Given the description of an element on the screen output the (x, y) to click on. 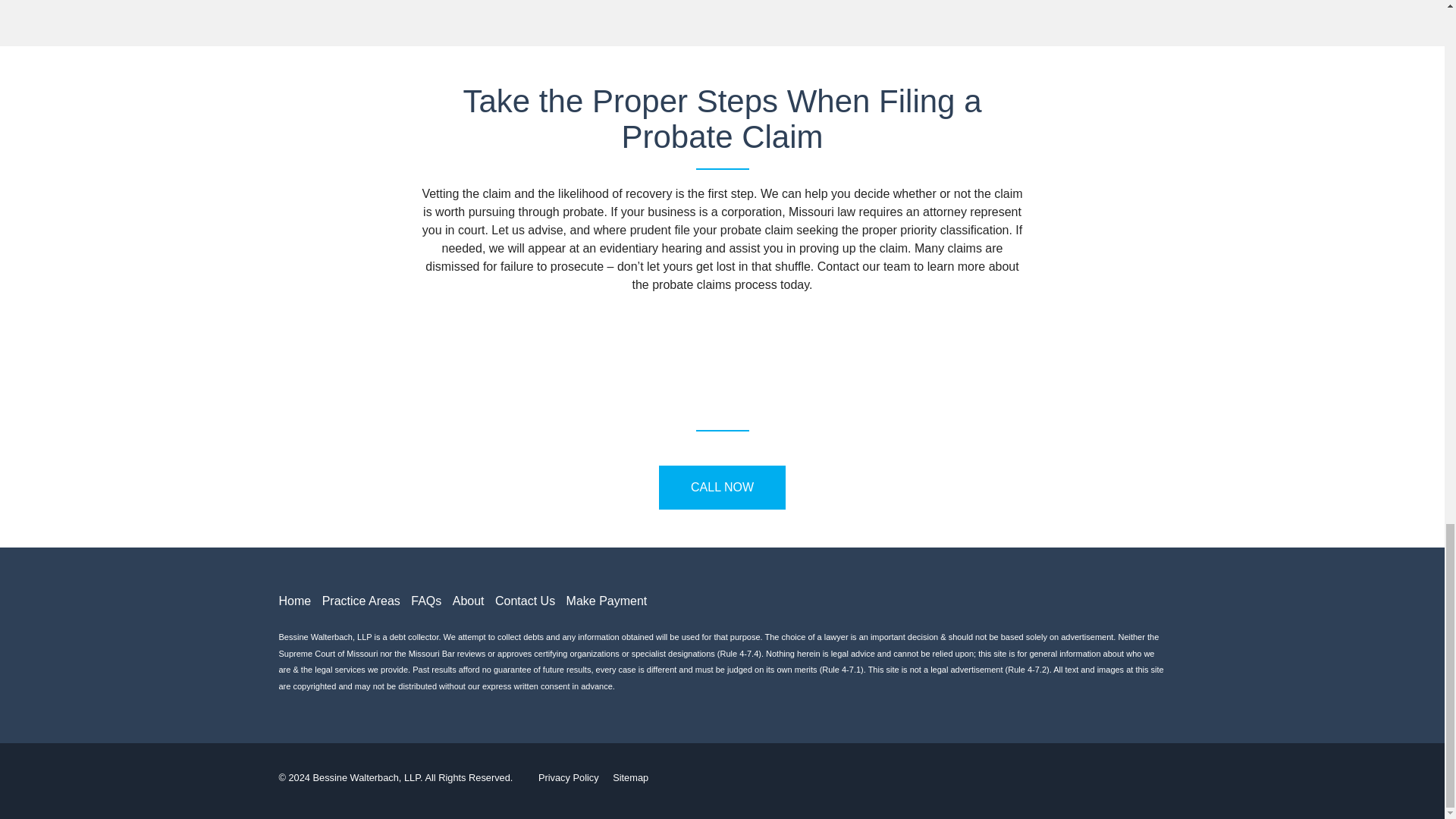
About (468, 600)
Contact Us (524, 600)
Practice Areas (360, 600)
CALL NOW (722, 487)
FAQs (425, 600)
Home (295, 600)
